Given the description of an element on the screen output the (x, y) to click on. 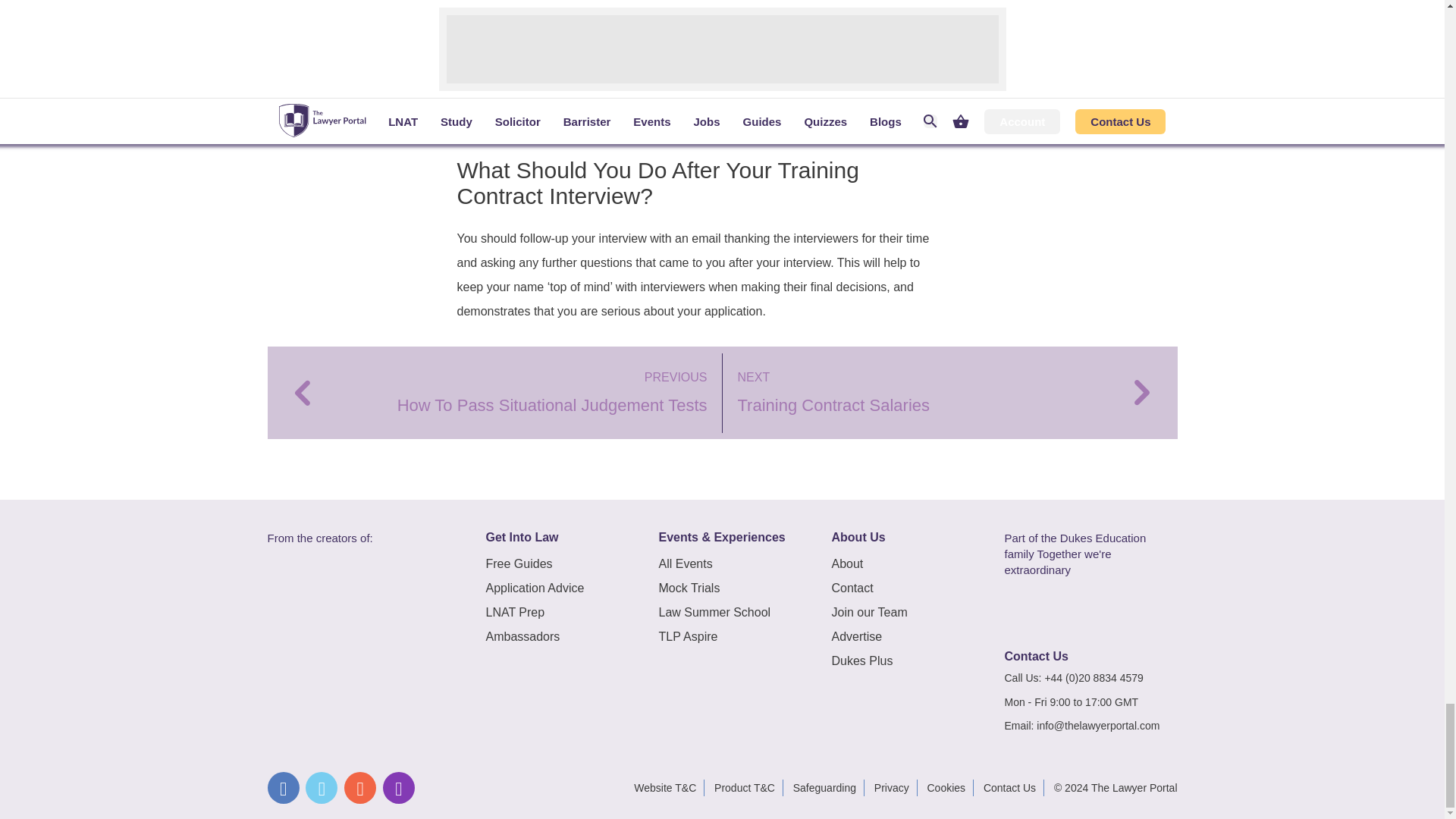
Instagram (398, 787)
Facebook (282, 787)
YouTube (359, 787)
Twitter (321, 787)
